Given the description of an element on the screen output the (x, y) to click on. 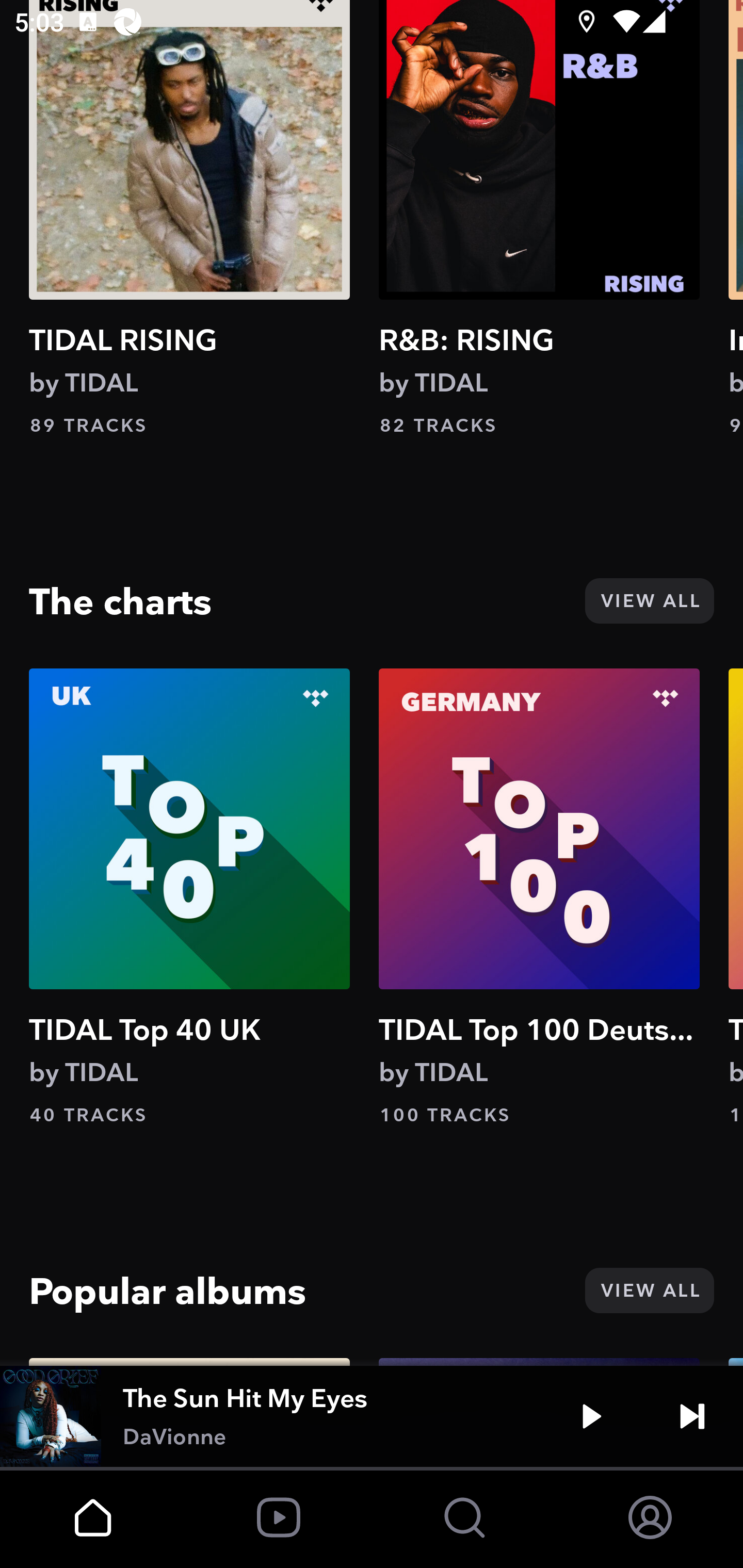
TIDAL RISING by TIDAL 89 TRACKS (188, 218)
R&B: RISING by TIDAL 82 TRACKS (538, 218)
VIEW ALL (649, 601)
TIDAL Top 40 UK by TIDAL 40 TRACKS (188, 897)
TIDAL Top 100 Deutschland by TIDAL 100 TRACKS (538, 897)
VIEW ALL (649, 1290)
The Sun Hit My Eyes DaVionne Play (371, 1416)
Play (590, 1416)
